Given the description of an element on the screen output the (x, y) to click on. 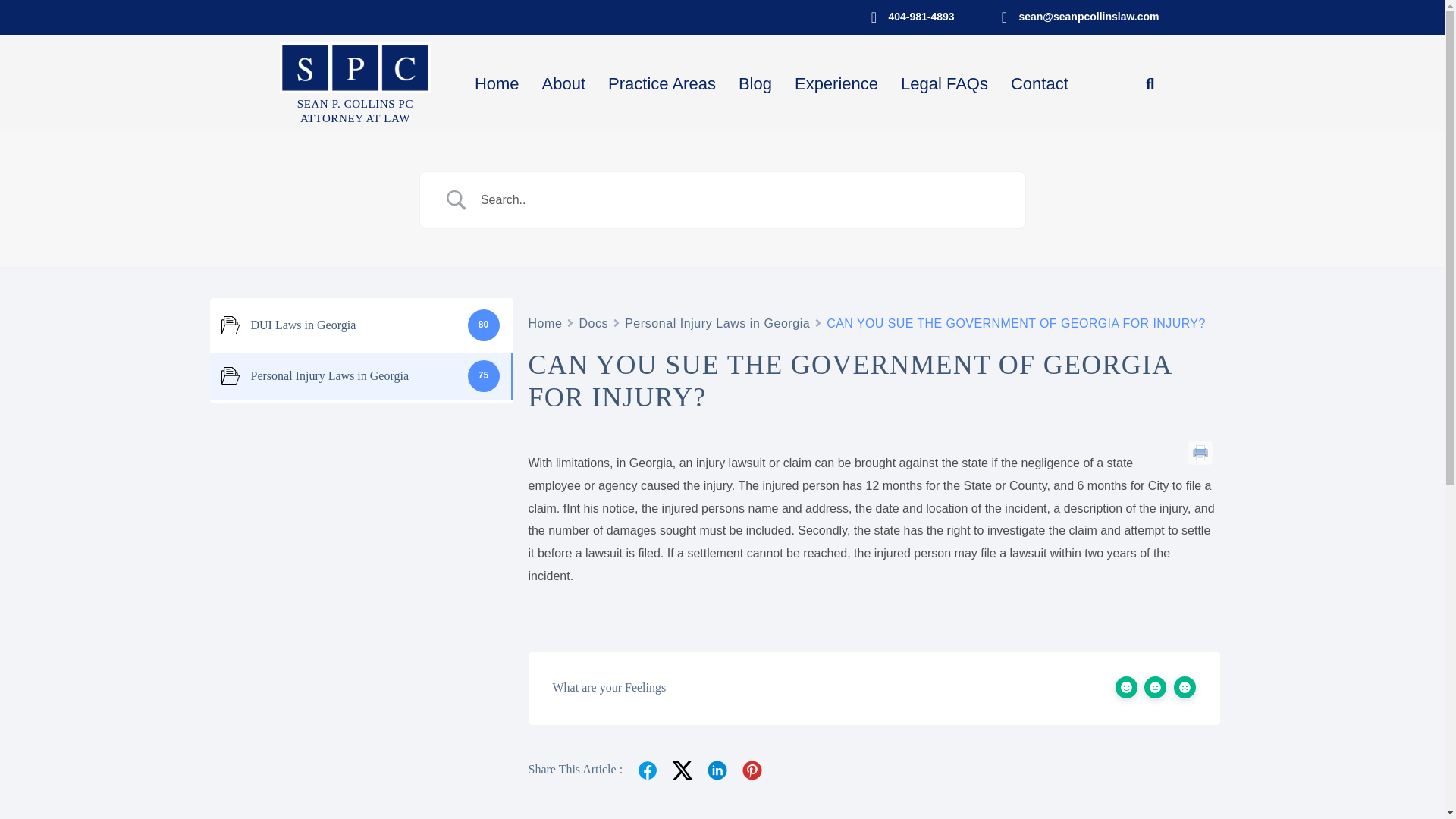
Docs (593, 322)
Legal FAQs (943, 84)
Contact (1039, 84)
Home (355, 110)
Personal Injury Laws in Georgia (497, 84)
Home (716, 322)
Blog (544, 322)
About (754, 84)
Search (563, 84)
